Given the description of an element on the screen output the (x, y) to click on. 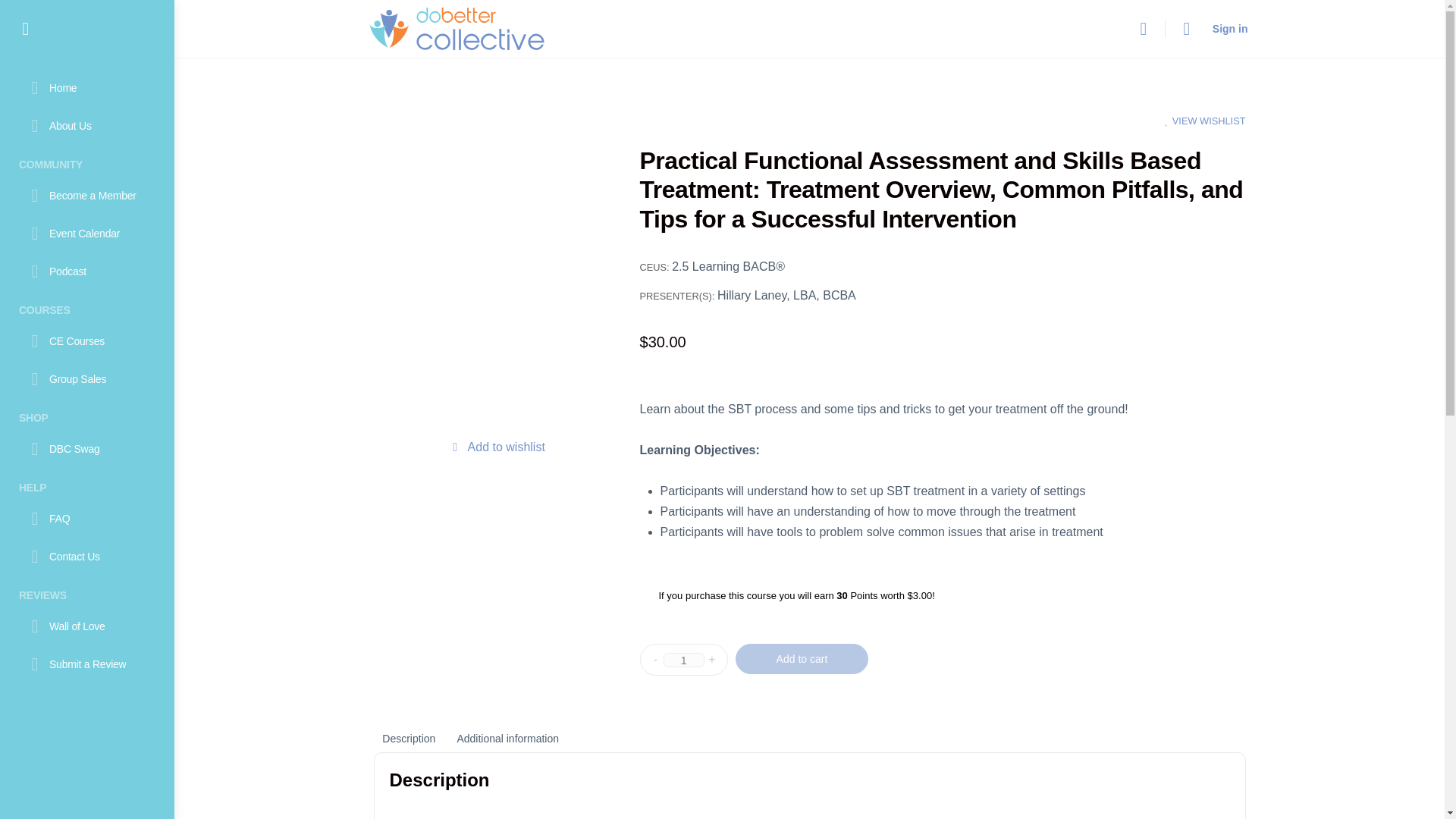
Sign in (1230, 28)
REVIEWS (87, 592)
Podcast (86, 271)
Group Sales (86, 379)
HELP (87, 484)
1 (682, 659)
SHOP (87, 415)
COURSES (87, 307)
Contact Us (86, 556)
Wall of Love (86, 626)
